Given the description of an element on the screen output the (x, y) to click on. 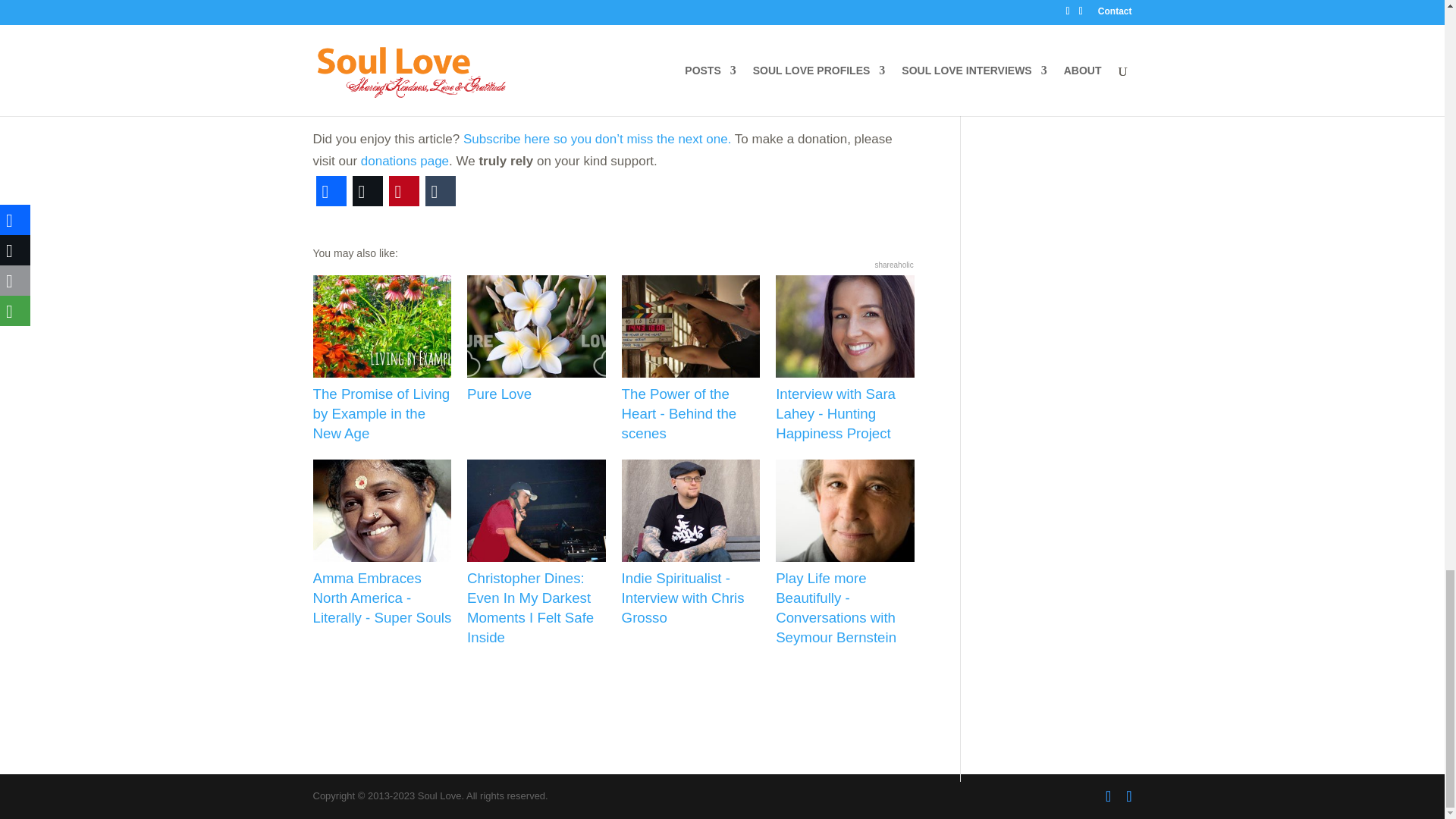
Pinterest (403, 190)
The Power of the Heart - Behind the scenes (690, 359)
Facebook (331, 190)
The Promise of Living by Example in the New Age (382, 359)
Tumblr (440, 190)
Interview with Sara Lahey - Hunting Happiness Project (845, 359)
Pure Love (536, 339)
gratitude films (464, 44)
Donations (404, 160)
